Given the description of an element on the screen output the (x, y) to click on. 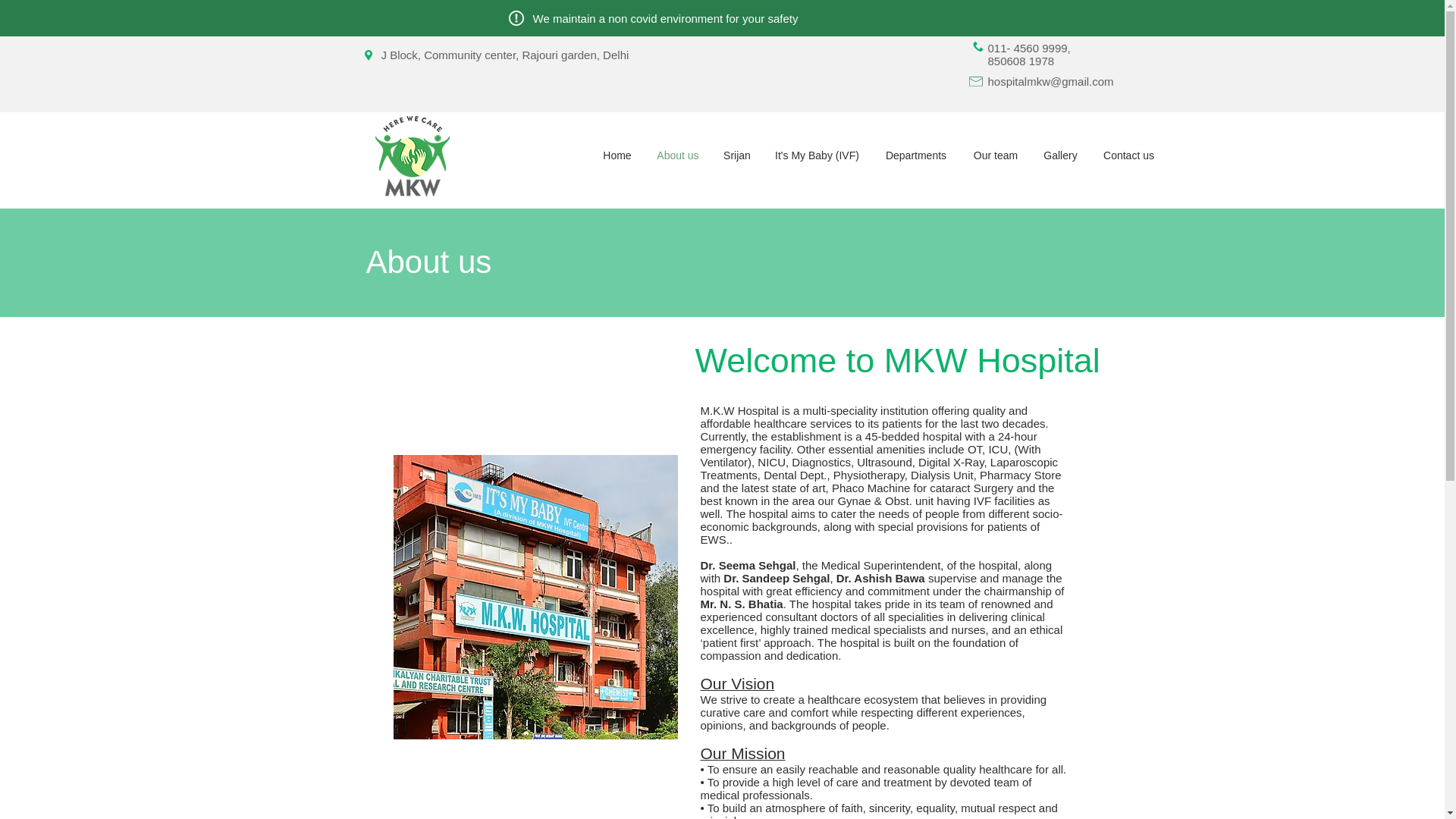
Contact us (1128, 155)
Our team (994, 155)
Home (616, 155)
About us (678, 155)
Srijan (736, 155)
Gallery (1060, 155)
Departments (916, 155)
